Given the description of an element on the screen output the (x, y) to click on. 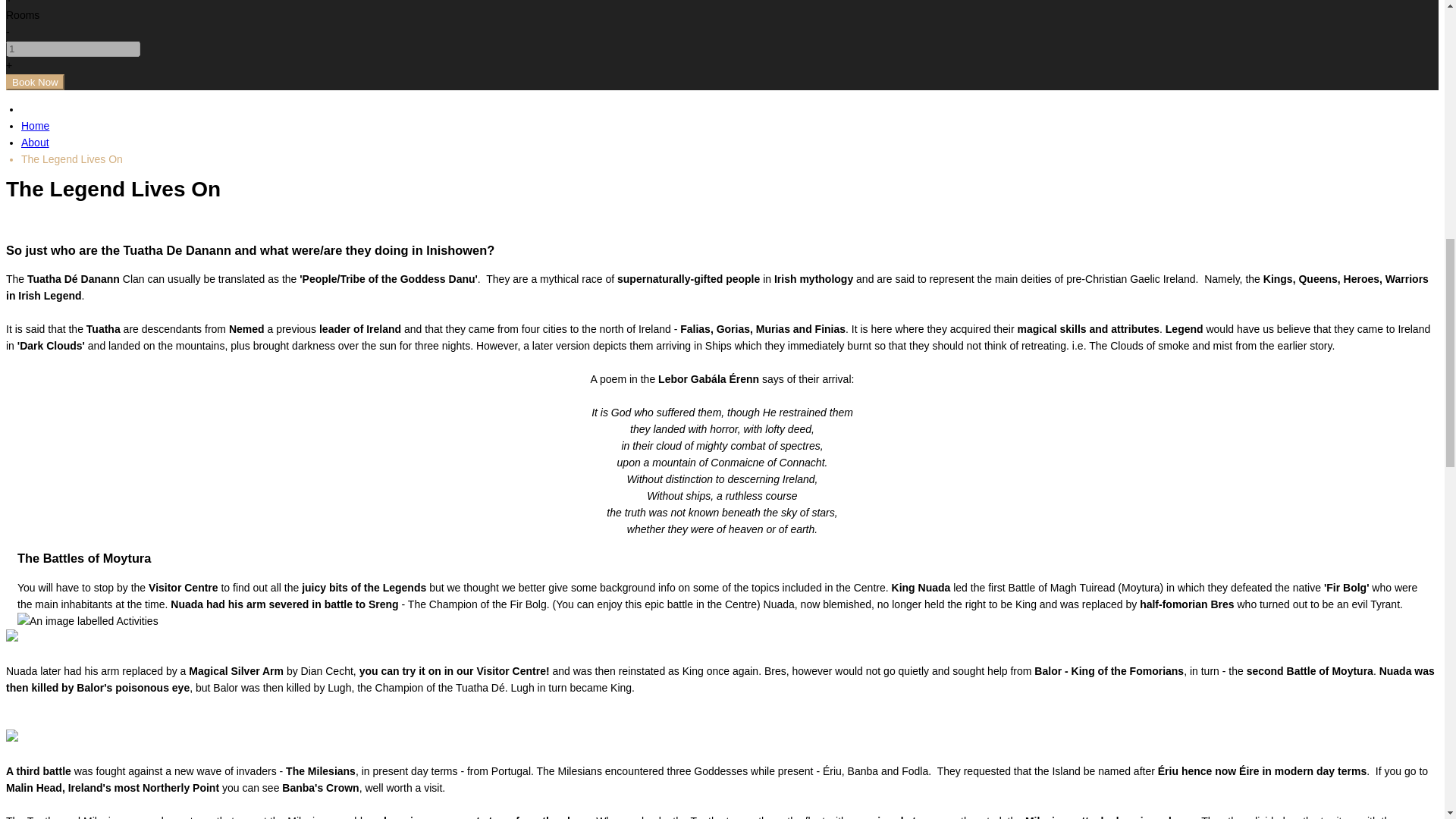
About (35, 142)
Book Now (34, 82)
1 (72, 48)
Home (35, 125)
Book Now (34, 82)
